Given the description of an element on the screen output the (x, y) to click on. 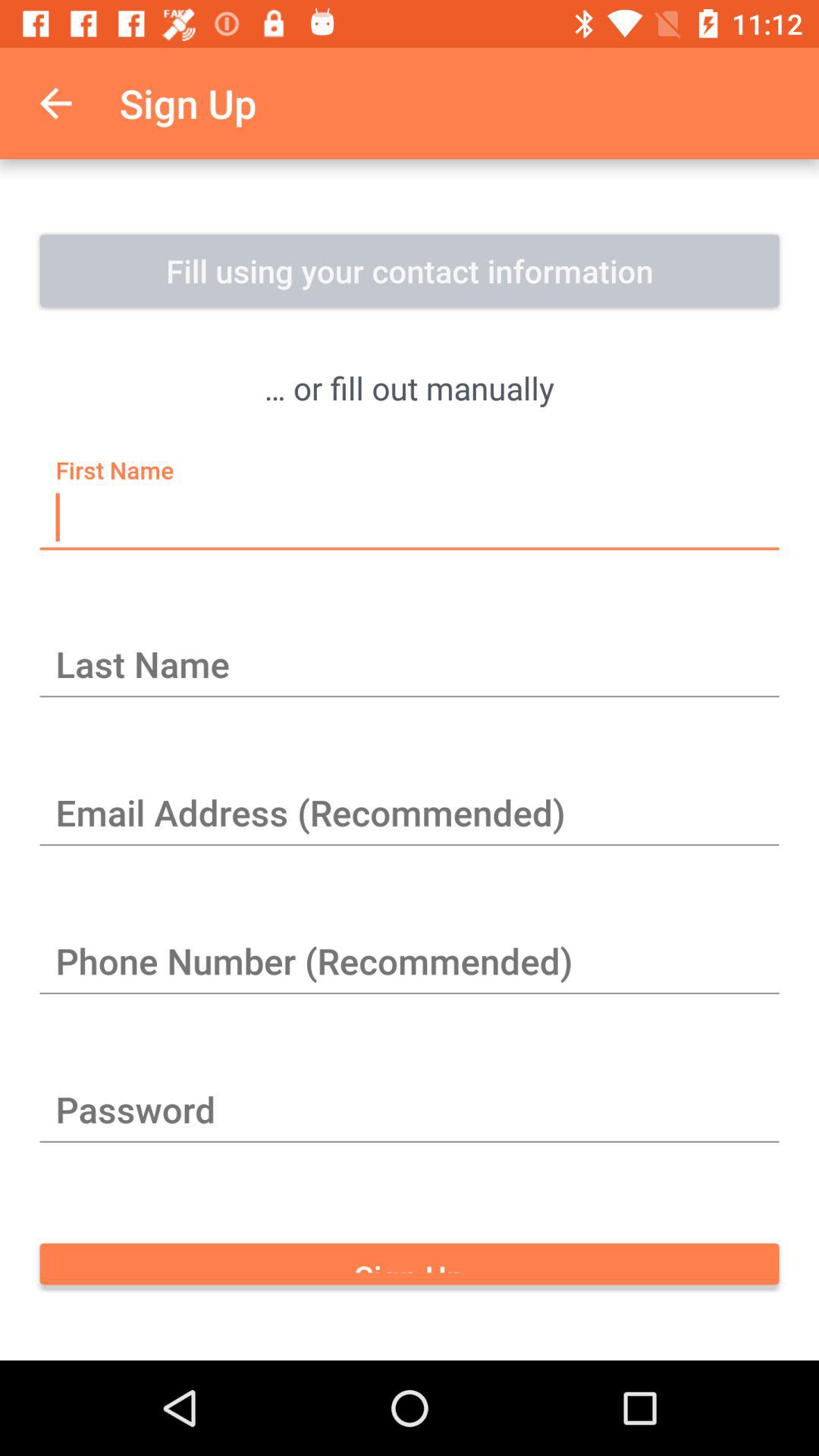
launch the item below the or fill out item (409, 517)
